Given the description of an element on the screen output the (x, y) to click on. 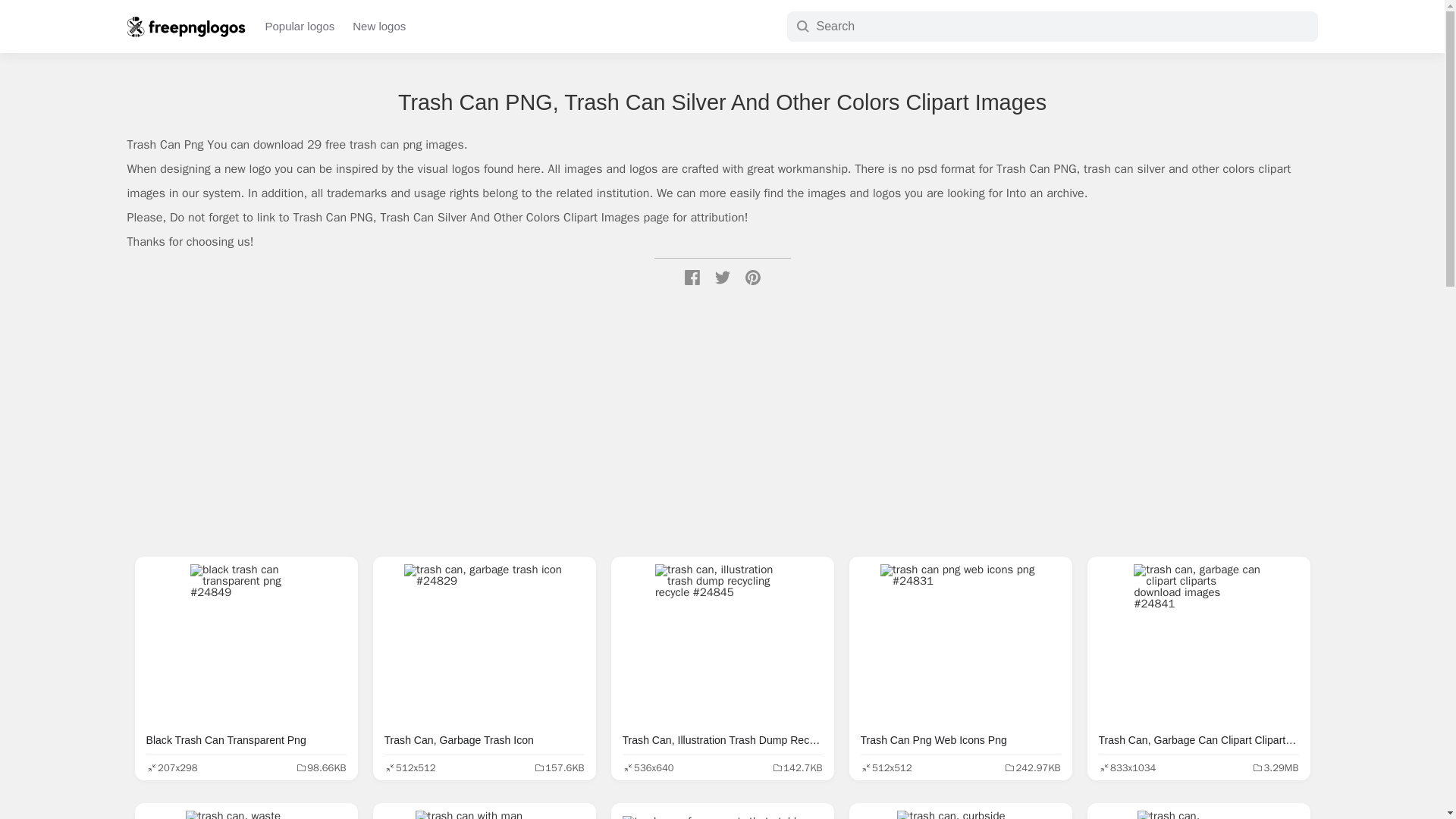
Trash Can, Illustration Trash Dump Recycling Recycle (721, 643)
Black Trash Can Transparent Png  (245, 643)
New logos (378, 25)
Trash Can, Garbage Trash Icon (483, 643)
Trash Can Png Web Icons Png (959, 643)
Trash Can, Force Empty That Stubborn Trash Bin Cnet (721, 814)
Popular logos (299, 25)
Trash Can, Waste Disposal Images Pixabay Download Pictures (245, 814)
Trash Can, Garbage Can Clipart Cliparts Download Images (1197, 643)
Trash Can, Curbside Trash Town Wilkesboro North Carolina (959, 814)
Trash Can With Man Basket Icon Png (483, 814)
